Given the description of an element on the screen output the (x, y) to click on. 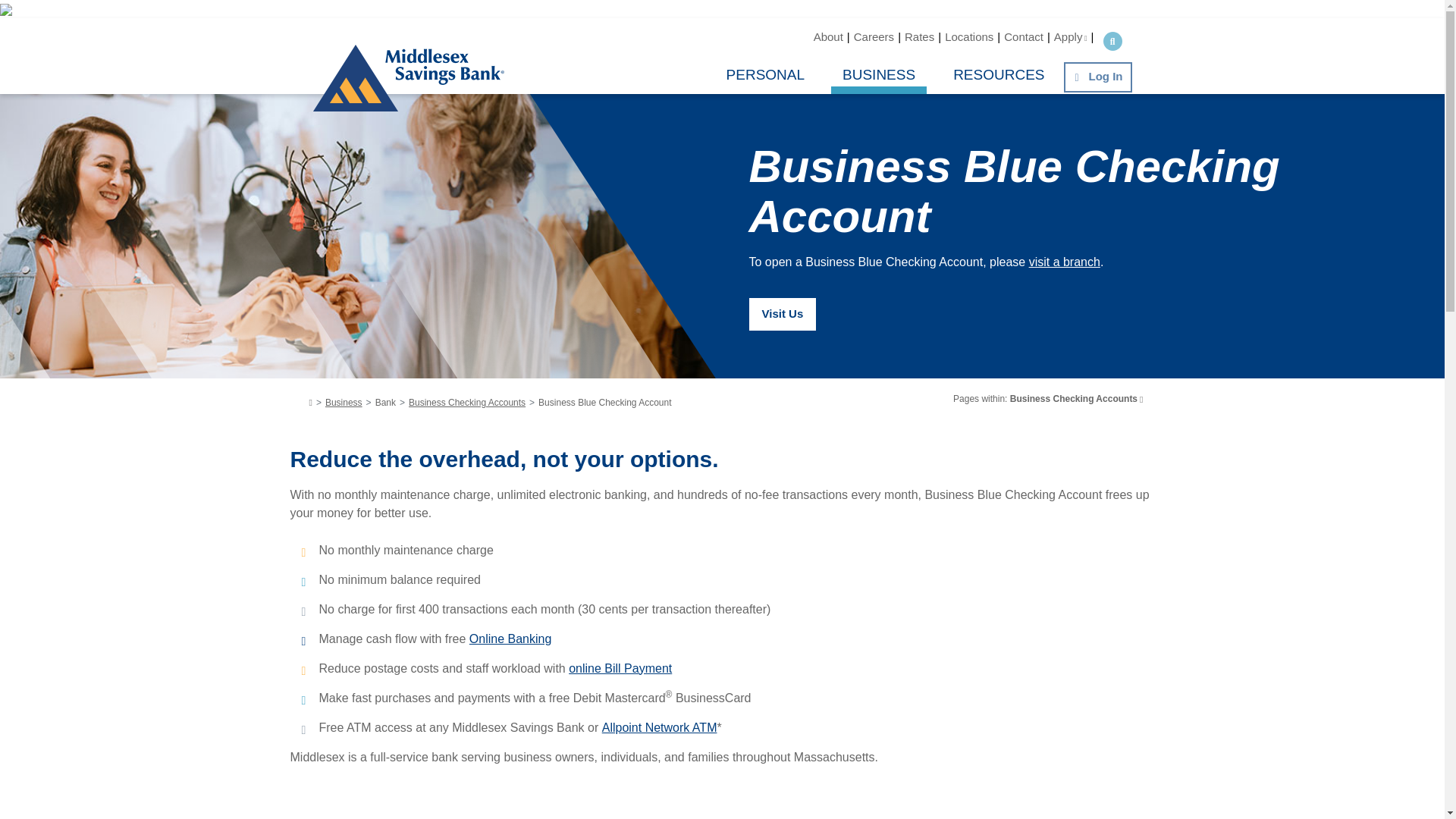
PERSONAL (764, 74)
Careers (873, 36)
Rates (919, 36)
Contact (1023, 36)
Middlesex Savings Bank - back to homepage (355, 58)
Site Search Desktop (1111, 41)
About (828, 36)
Locations (968, 36)
Apply (1070, 36)
